Given the description of an element on the screen output the (x, y) to click on. 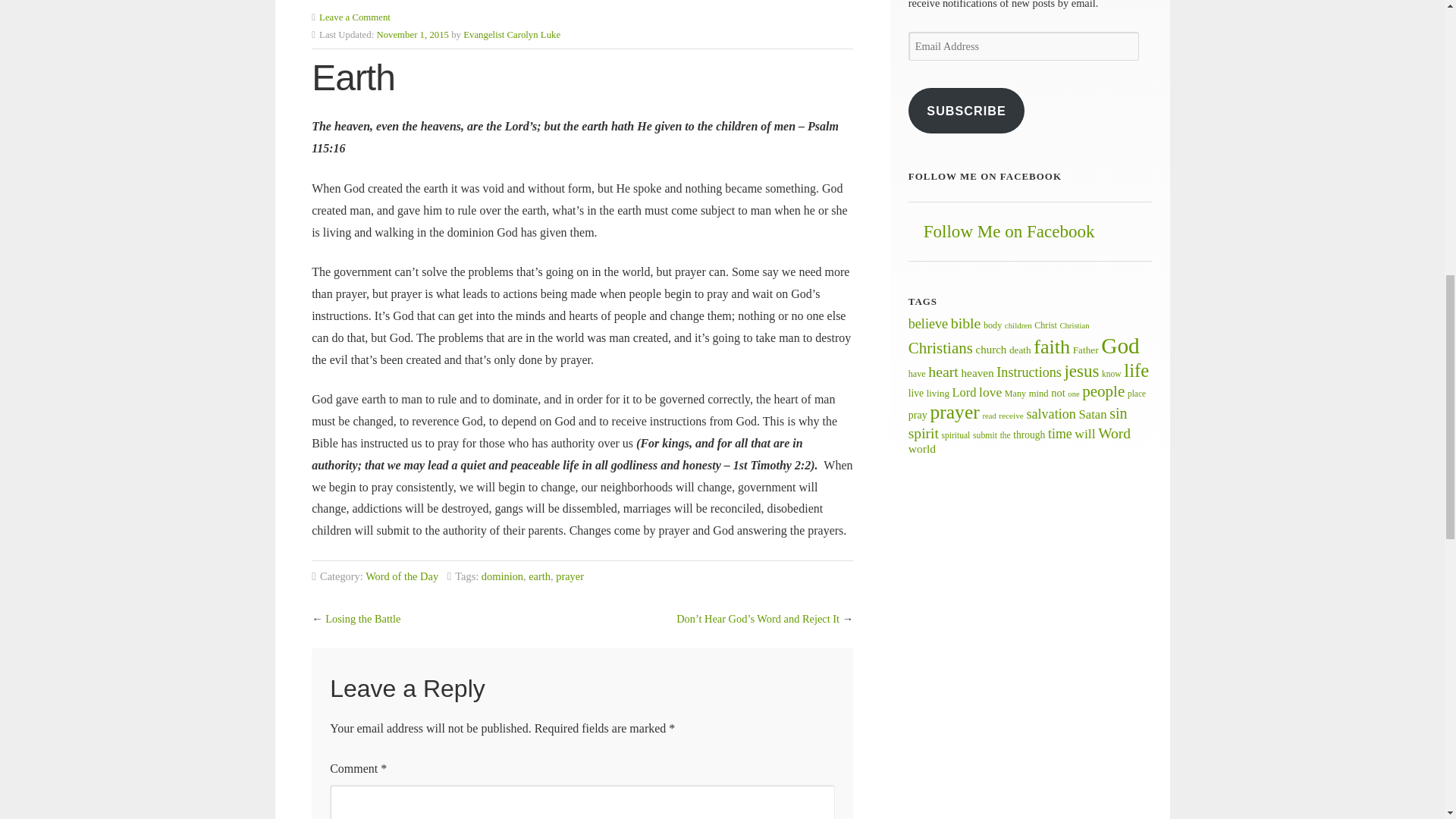
Leave a Comment (354, 17)
SUBSCRIBE (966, 110)
earth (539, 576)
Losing the Battle (362, 618)
prayer (569, 576)
Evangelist Carolyn Luke (511, 34)
Word of the Day (401, 576)
View all posts by Evangelist Carolyn Luke (511, 34)
3:42 pm (411, 34)
dominion (501, 576)
